Given the description of an element on the screen output the (x, y) to click on. 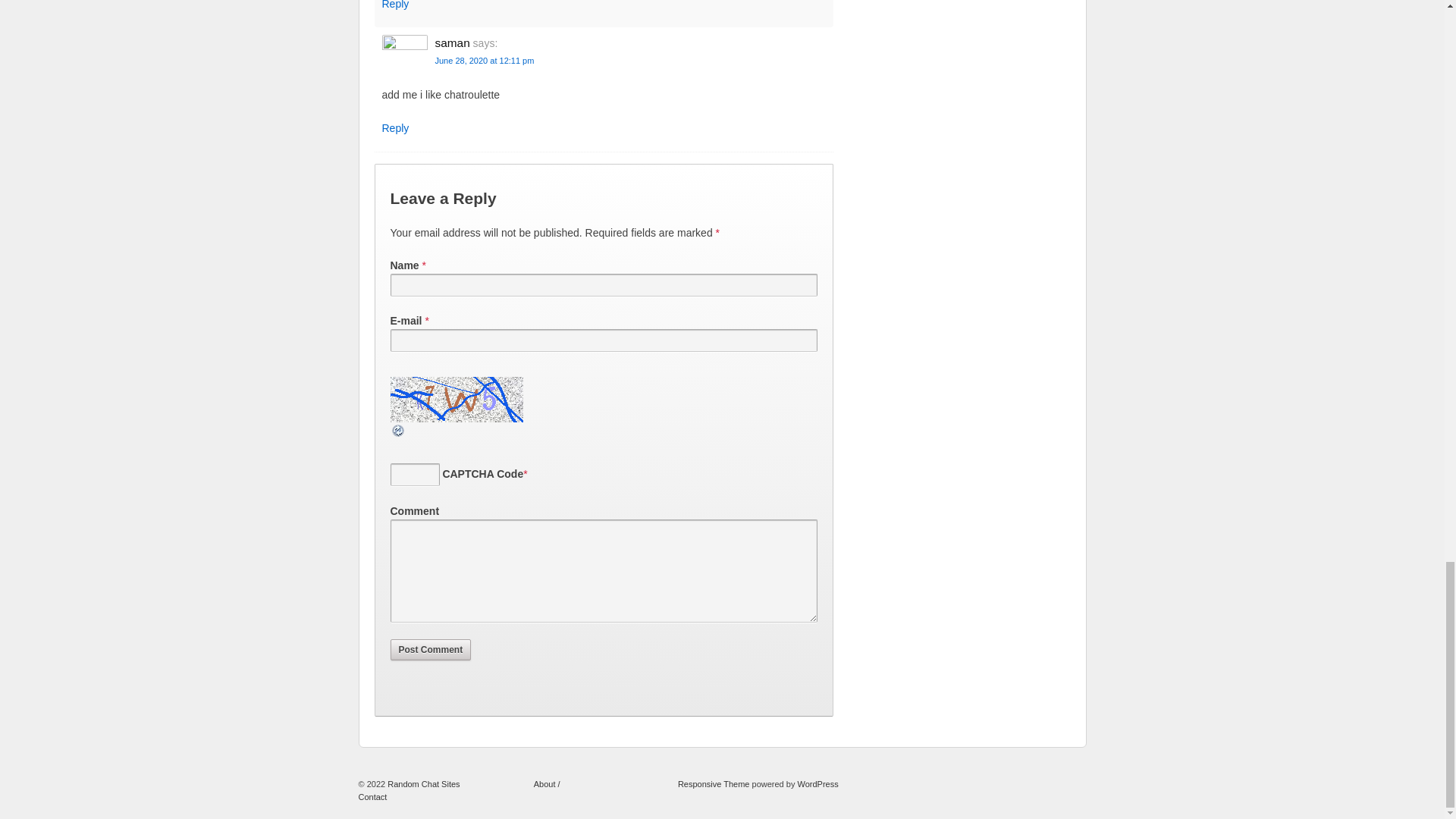
Random Chat Sites (424, 783)
CAPTCHA Image (457, 399)
Refresh Image (398, 429)
Reply (395, 4)
June 28, 2020 at 12:11 pm (484, 60)
Post Comment (430, 649)
Reply (395, 128)
Post Comment (430, 649)
